Given the description of an element on the screen output the (x, y) to click on. 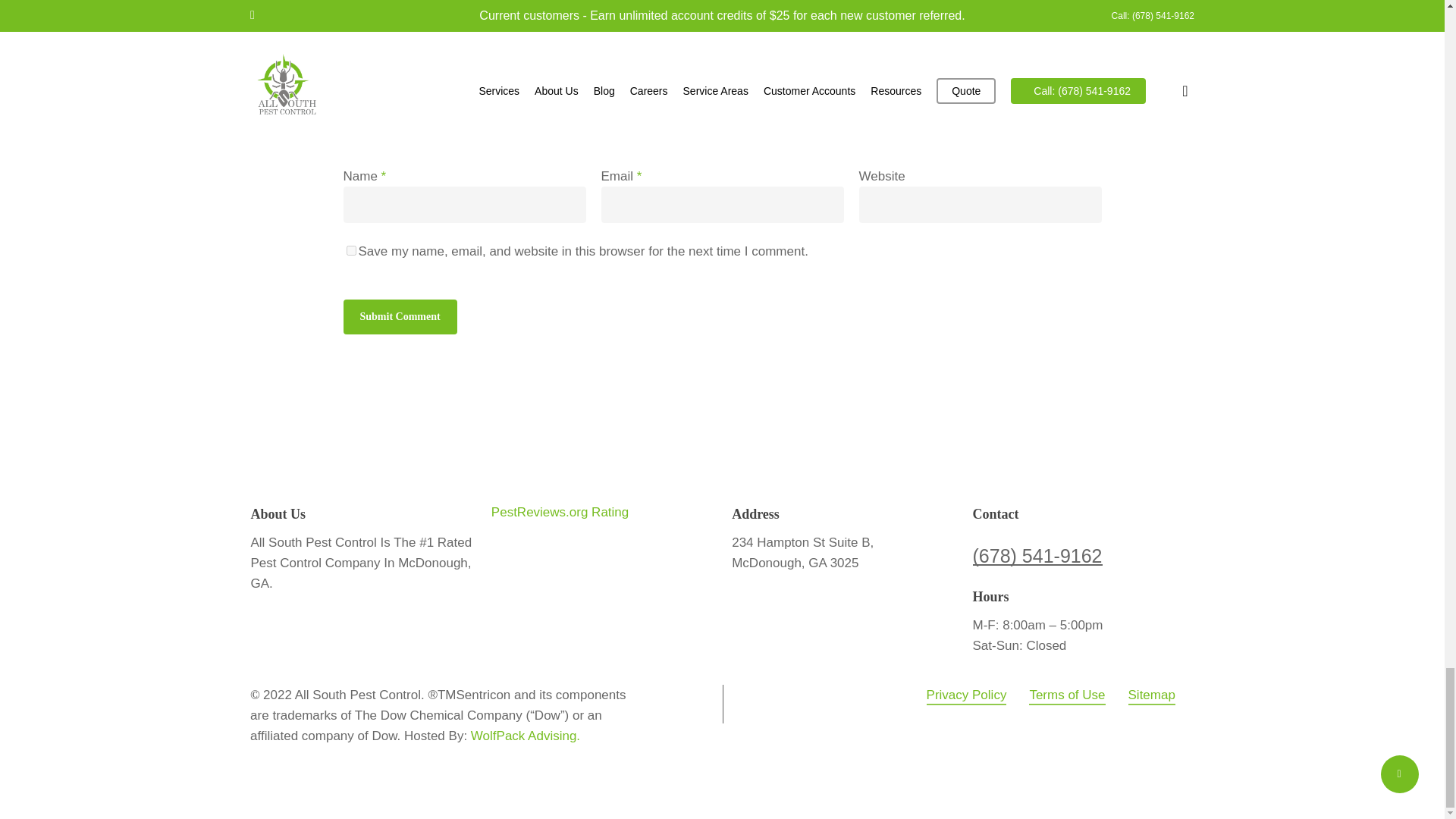
yes (350, 250)
Submit Comment (399, 316)
